Given the description of an element on the screen output the (x, y) to click on. 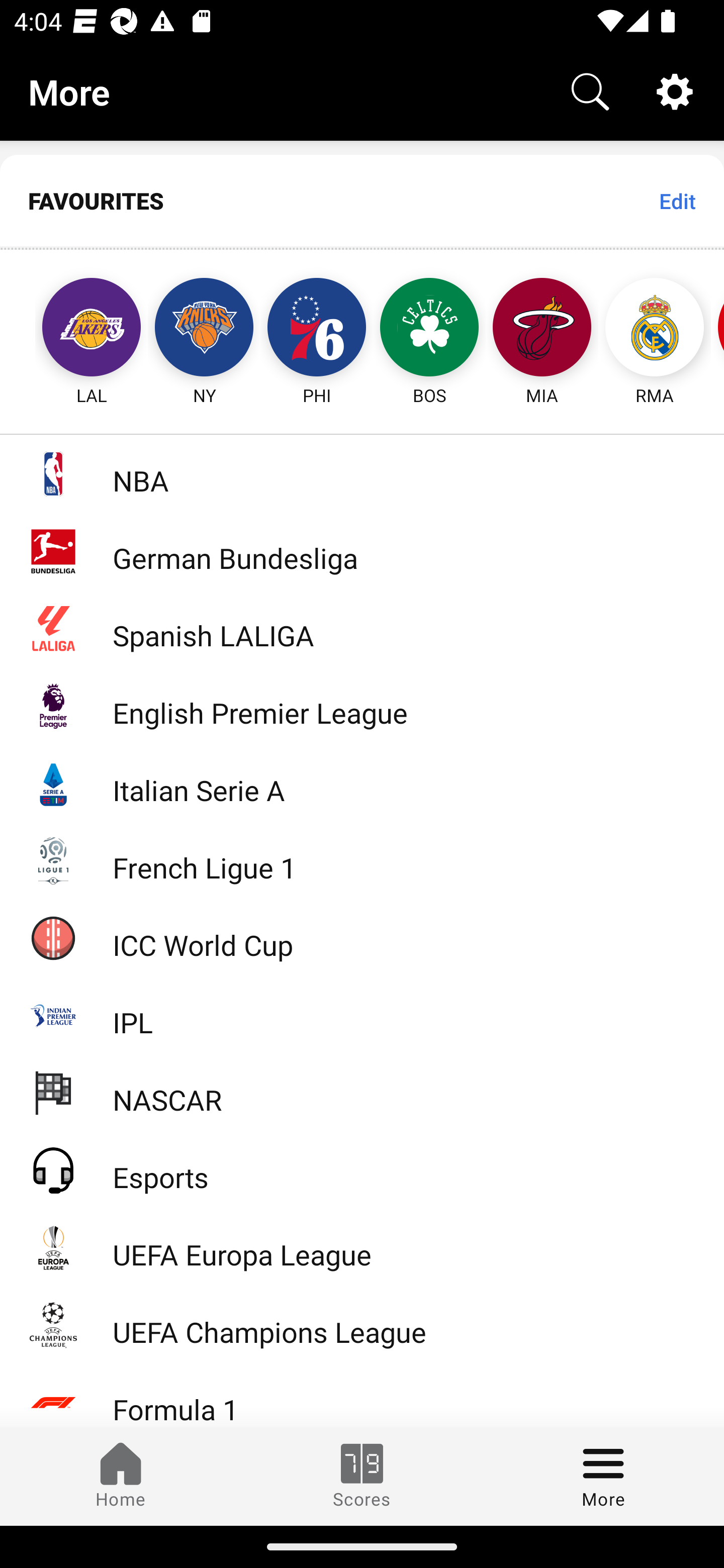
Search (590, 90)
Settings (674, 90)
Edit (676, 200)
LAL Los Angeles Lakers (73, 328)
NY New York Knicks (203, 328)
PHI Philadelphia 76ers (316, 328)
BOS Boston Celtics (428, 328)
MIA Miami Heat (541, 328)
RMA Real Madrid (654, 328)
NBA (362, 473)
German Bundesliga (362, 550)
Spanish LALIGA (362, 627)
English Premier League (362, 705)
Italian Serie A (362, 782)
French Ligue 1 (362, 859)
ICC World Cup (362, 937)
IPL (362, 1014)
NASCAR (362, 1091)
Esports (362, 1169)
UEFA Europa League (362, 1246)
UEFA Champions League (362, 1324)
Home (120, 1475)
Scores (361, 1475)
